Given the description of an element on the screen output the (x, y) to click on. 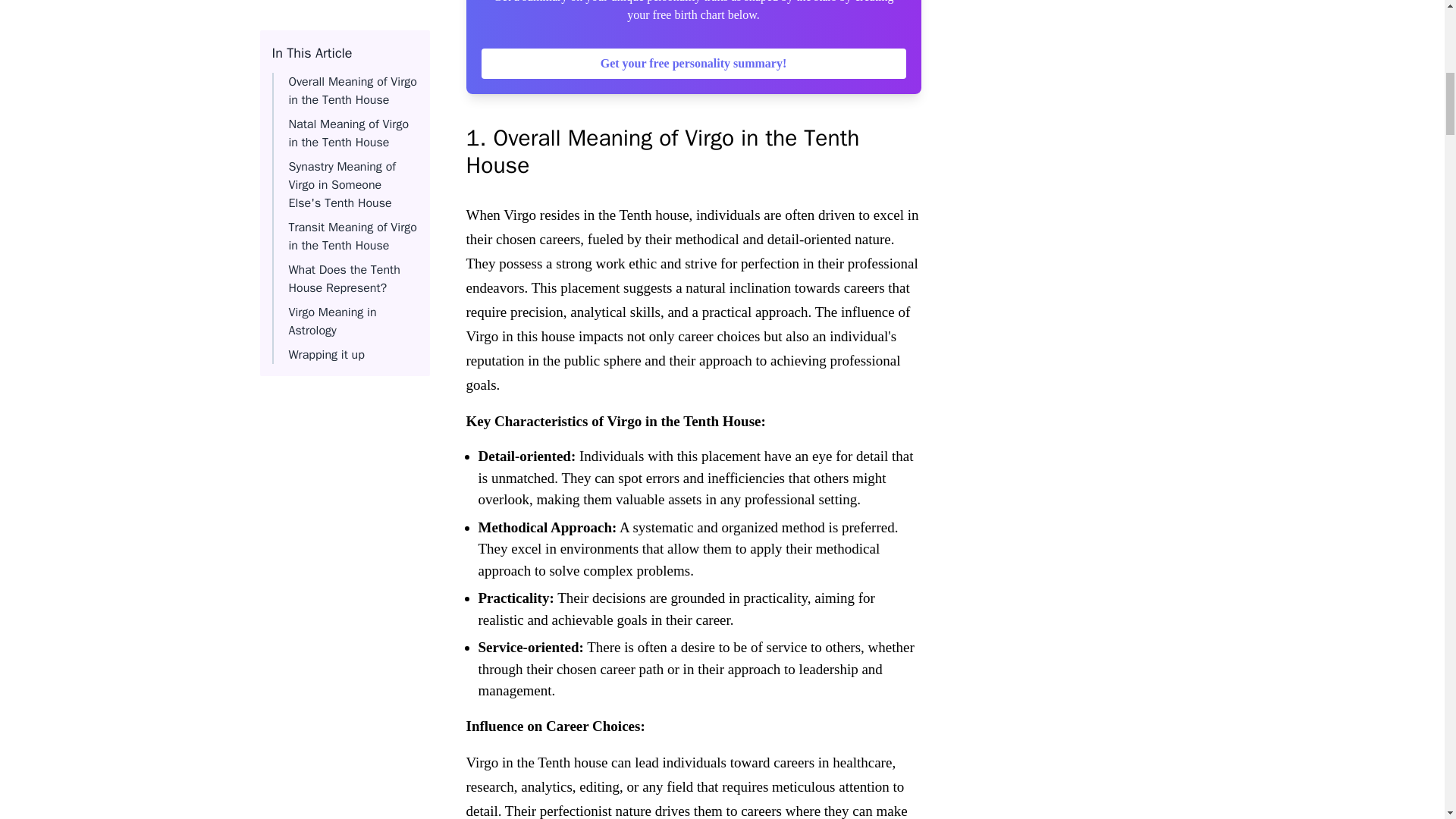
Virgo Meaning in Astrology (331, 102)
Get your free personality summary! (692, 63)
What Does the Tenth House Represent? (343, 60)
Wrapping it up (326, 136)
Transit Meaning of Virgo in the Tenth House (352, 18)
